Given the description of an element on the screen output the (x, y) to click on. 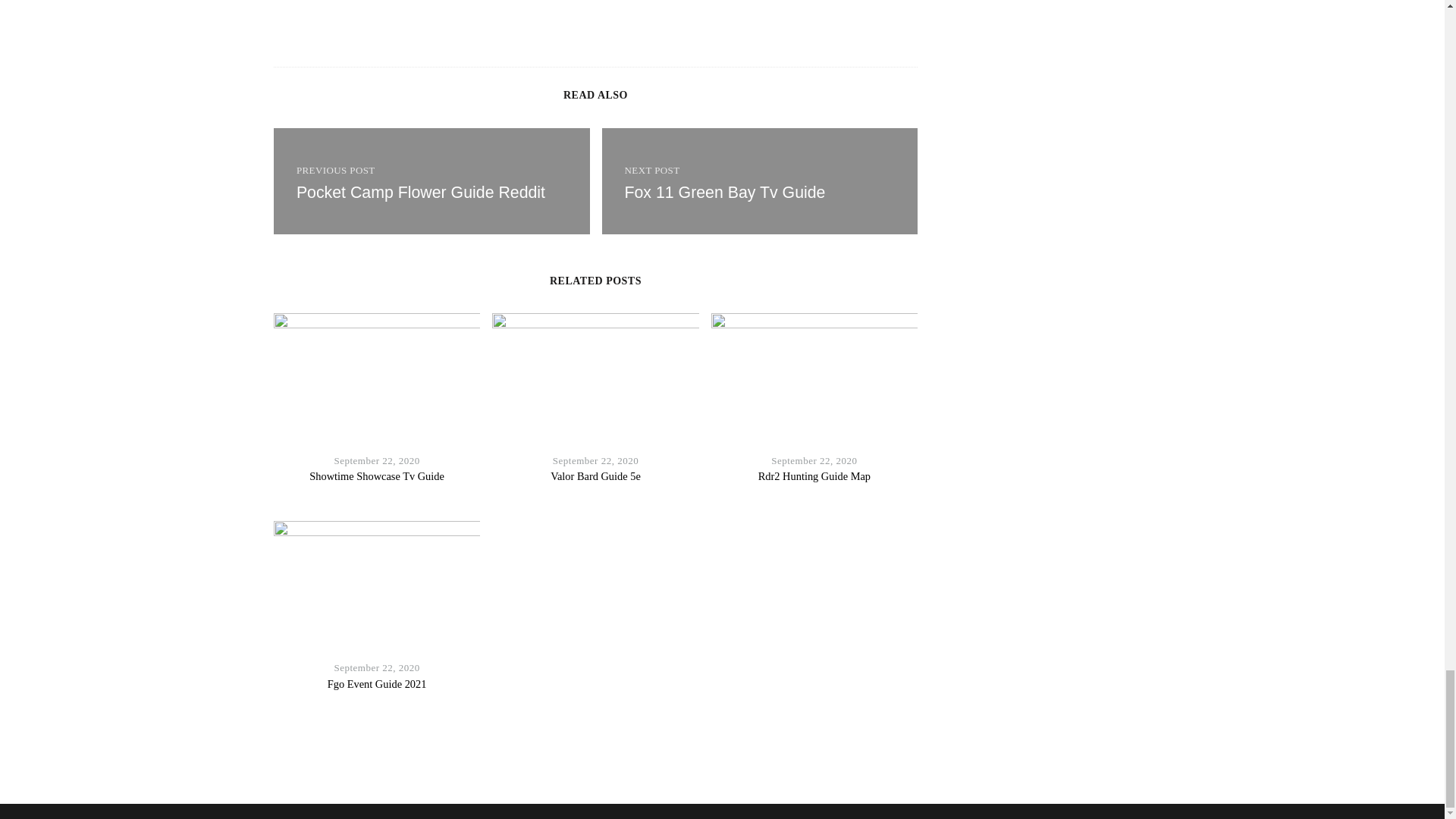
Tv Guide Washington Dc Tonight (760, 180)
Tv Guide Washington Dc Tonight (420, 192)
Tv Guide Washington Dc Tonight (431, 180)
Pocket Camp Flower Guide Reddit (420, 192)
Rdr2 Hunting Guide Map (814, 476)
Pocket Camp Flower Guide Reddit (431, 180)
Showtime Showcase Tv Guide (376, 476)
Valor Bard Guide 5e (595, 476)
Fox 11 Green Bay Tv Guide (724, 192)
Tv Guide Washington Dc Tonight (724, 192)
Fox 11 Green Bay Tv Guide (760, 180)
